Given the description of an element on the screen output the (x, y) to click on. 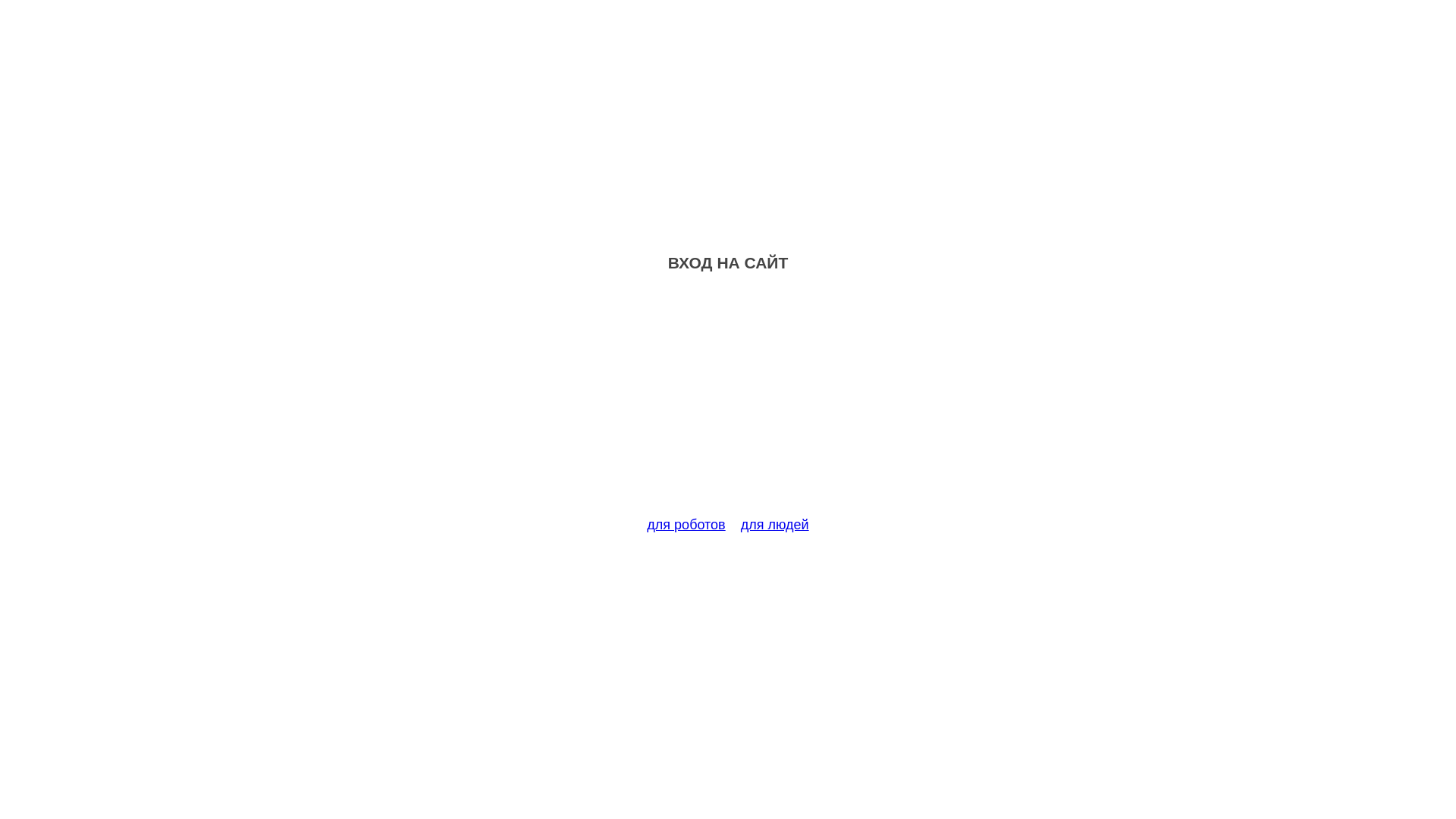
Advertisement Element type: hover (727, 403)
